Given the description of an element on the screen output the (x, y) to click on. 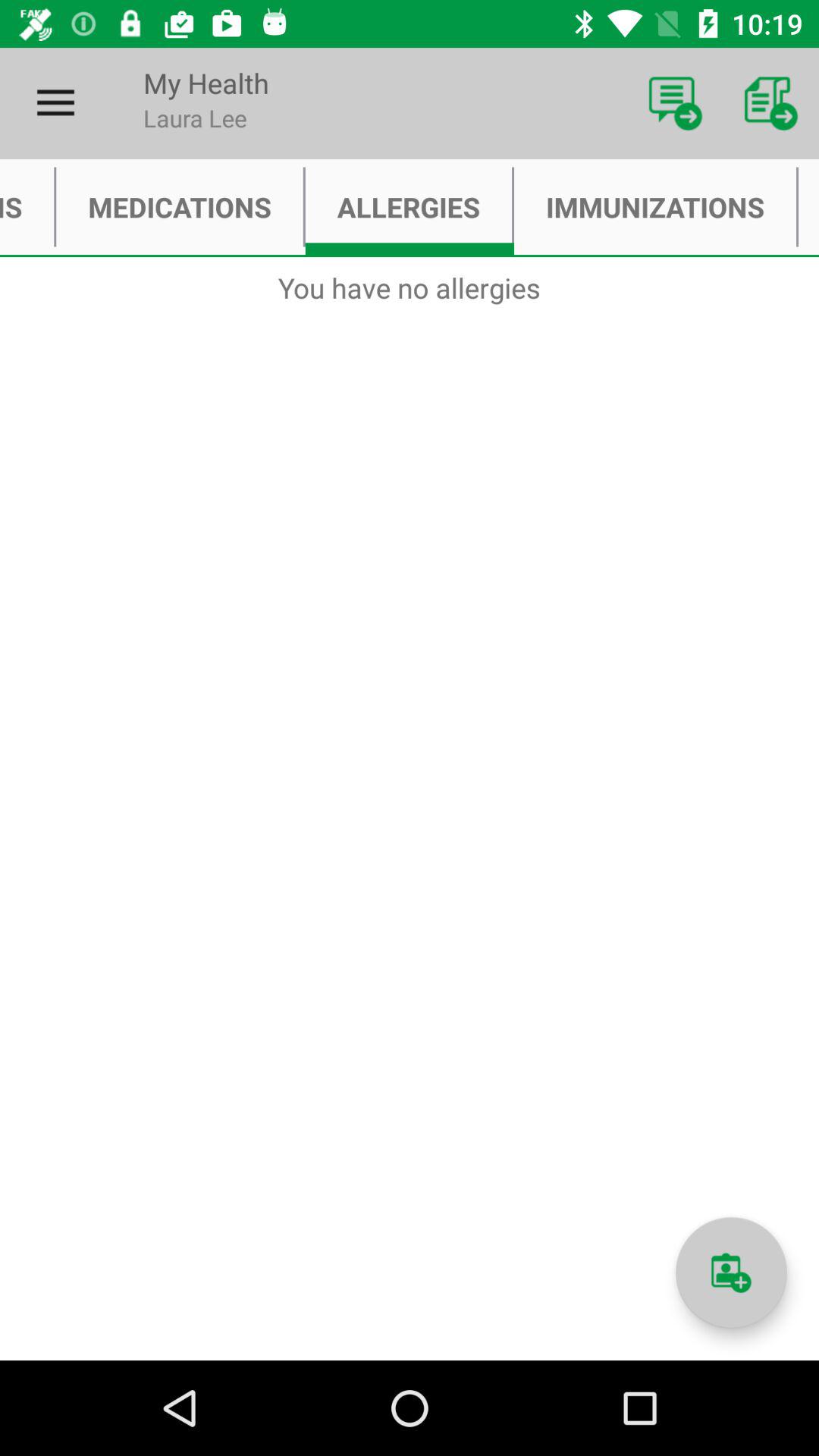
click item to the left of the my health icon (55, 103)
